Given the description of an element on the screen output the (x, y) to click on. 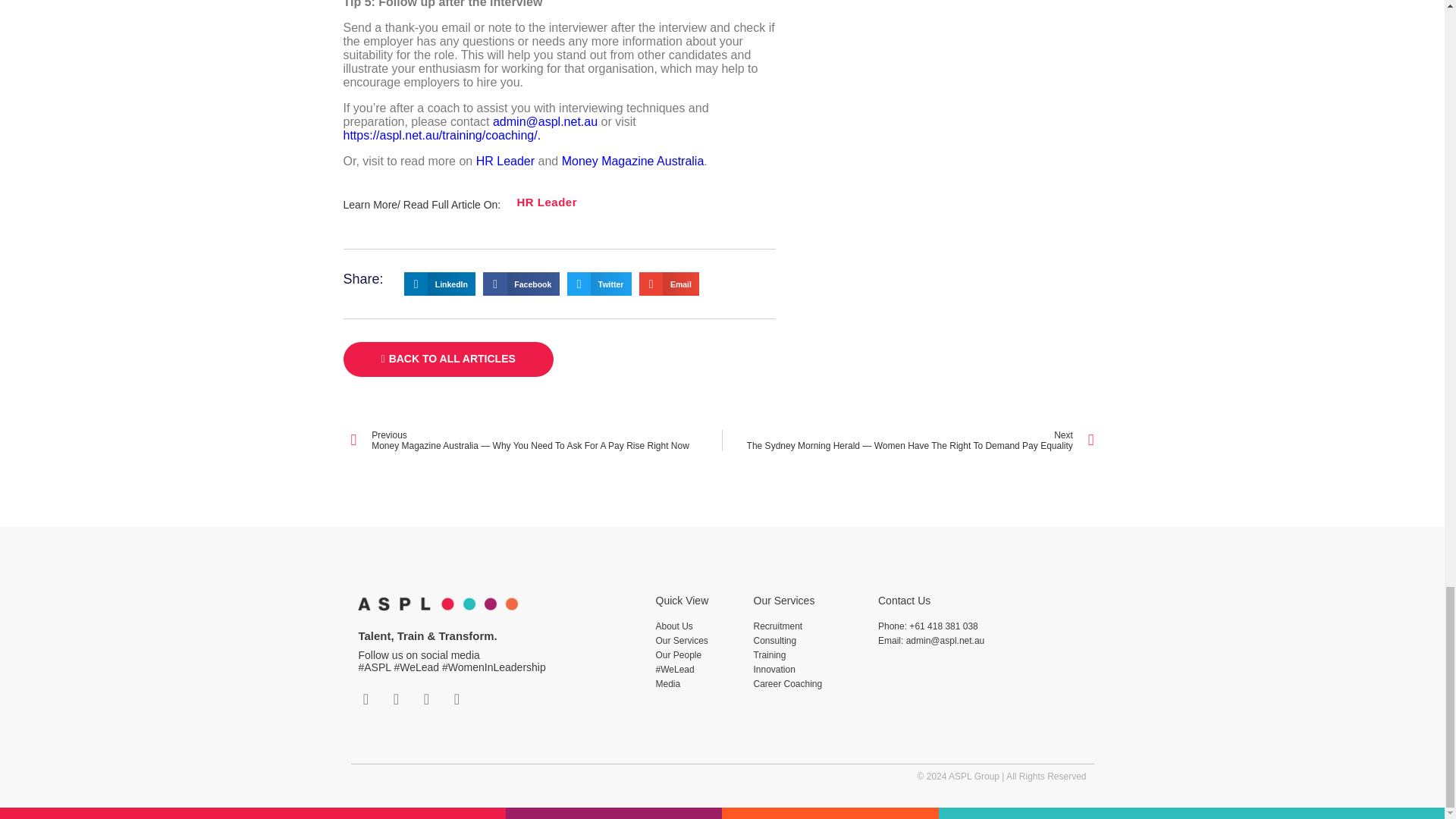
HR Leader (546, 202)
Money Magazine Australia (633, 160)
HR Leader (505, 160)
BACK TO ALL ARTICLES (447, 359)
About Us (696, 625)
